Given the description of an element on the screen output the (x, y) to click on. 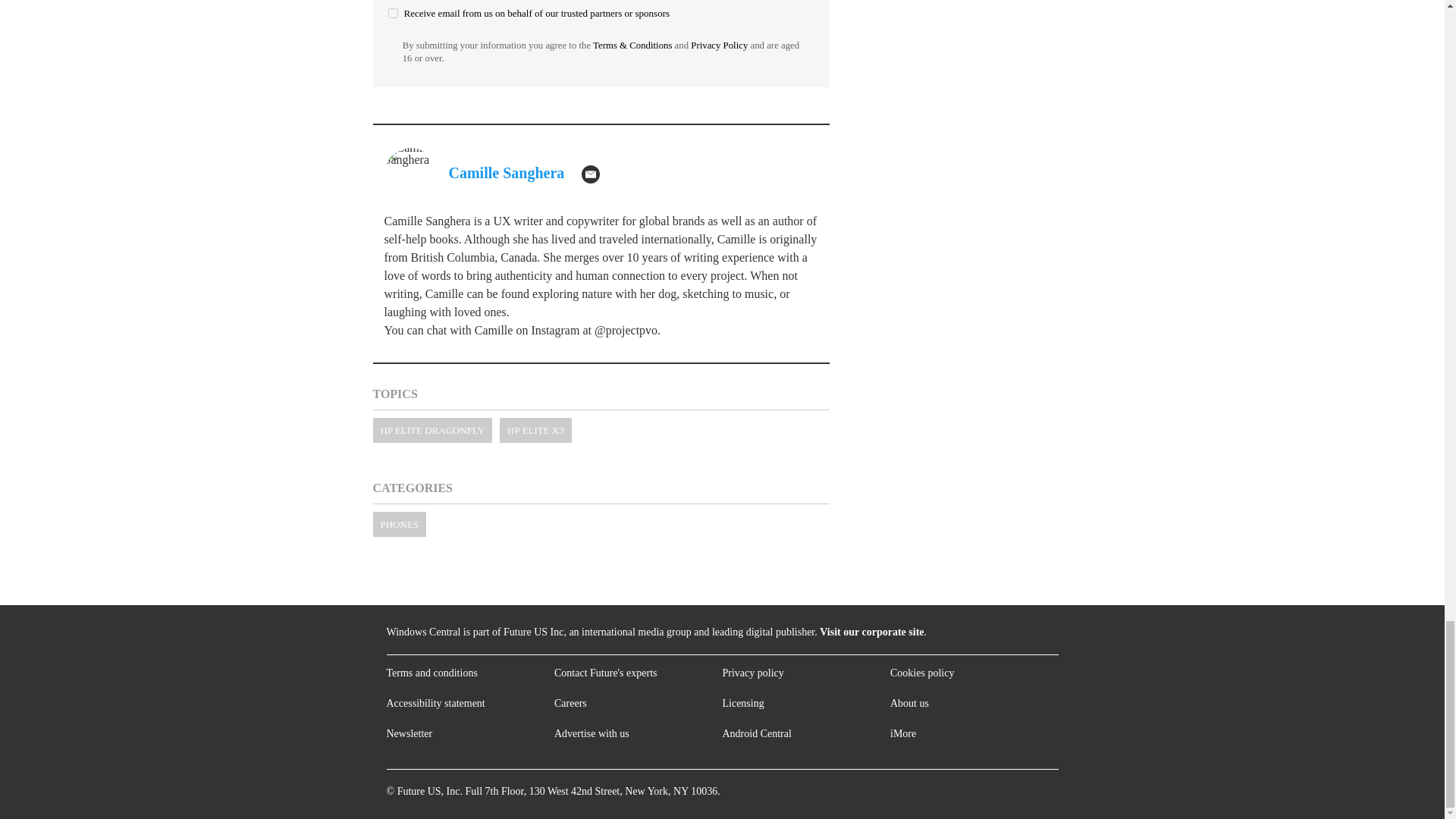
PHONES (399, 524)
HP ELITE DRAGONFLY (432, 430)
on (392, 13)
Privacy Policy (719, 45)
Camille Sanghera (506, 172)
HP ELITE X3 (535, 430)
